Given the description of an element on the screen output the (x, y) to click on. 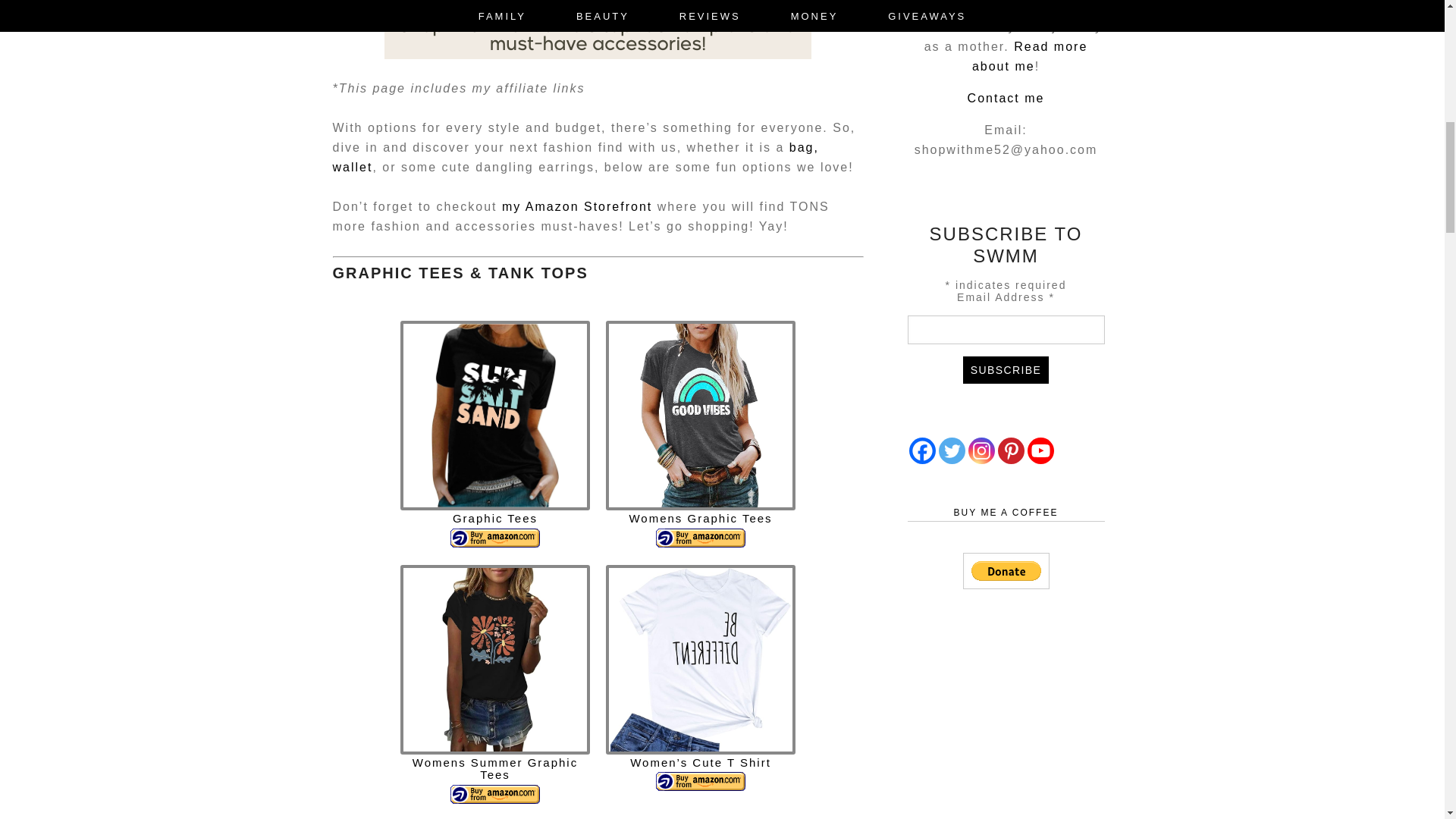
Fashion And Accessories (597, 29)
Subscribe (1005, 370)
